Given the description of an element on the screen output the (x, y) to click on. 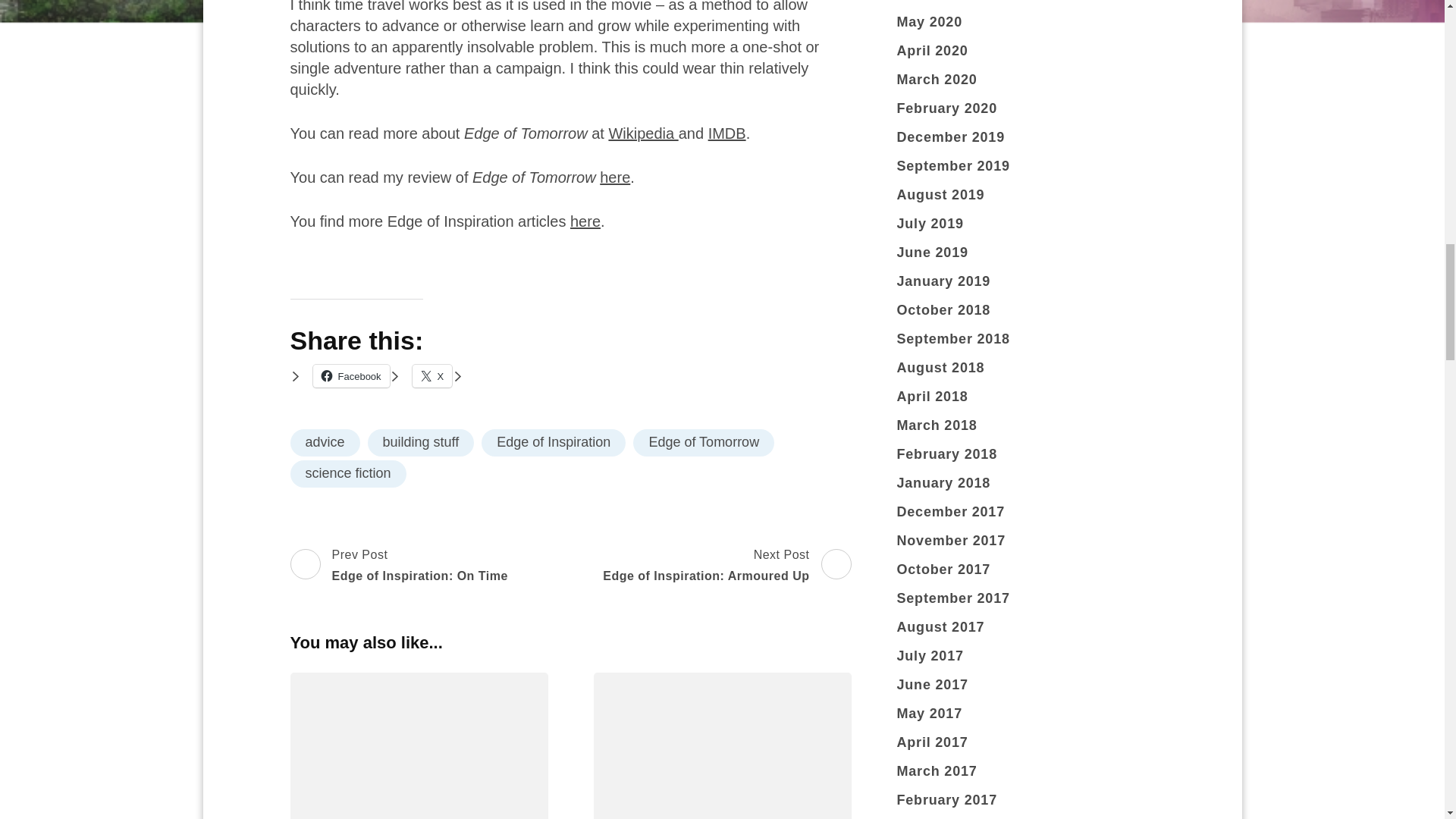
here (584, 221)
Wikipedia (724, 565)
Edge of Tomorrow (643, 133)
X (400, 565)
building stuff (703, 442)
advice (432, 375)
IMDB (421, 442)
Edge of Inspiration (324, 442)
